Given the description of an element on the screen output the (x, y) to click on. 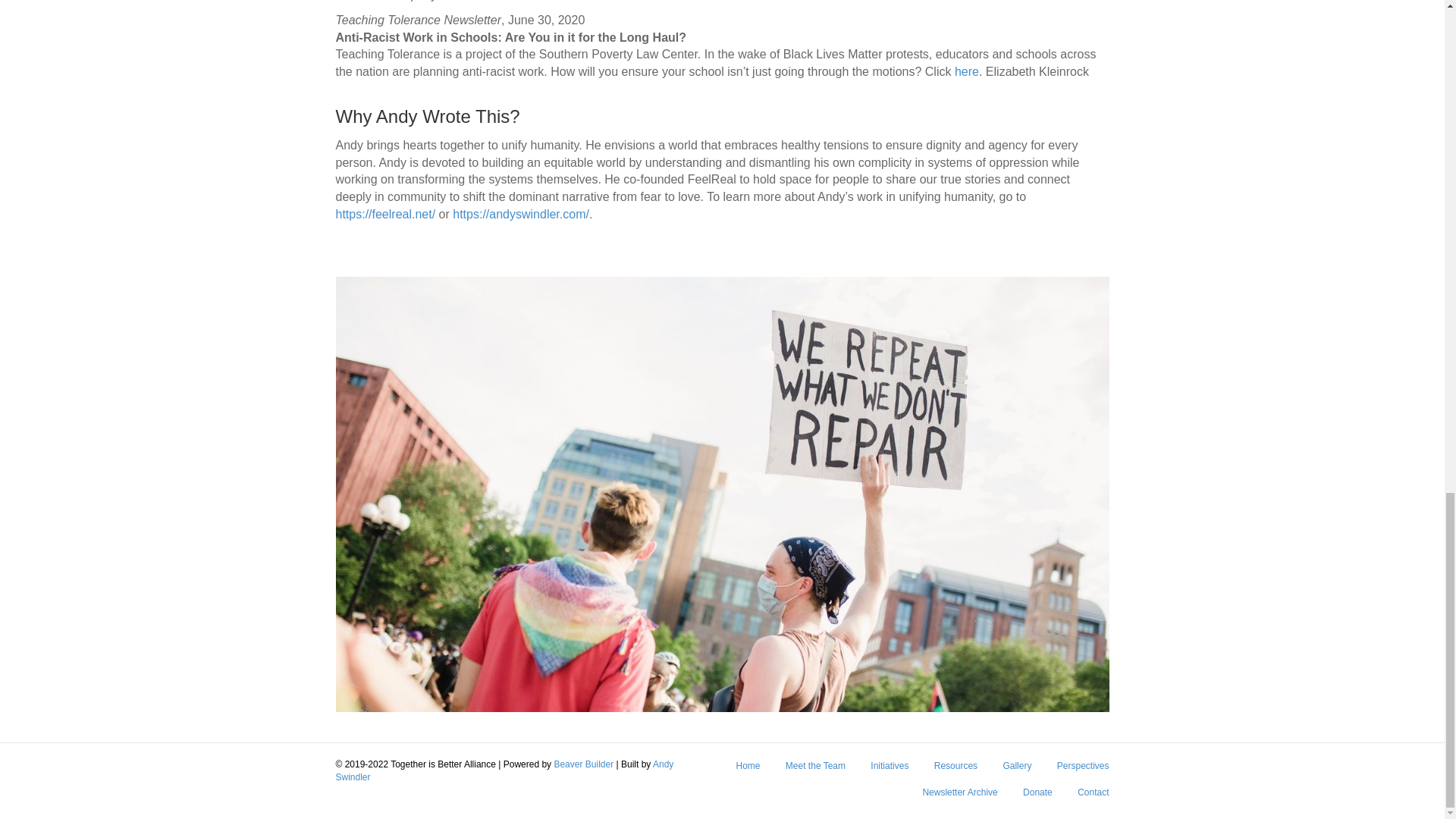
WordPress Page Builder Plugin (582, 764)
here (483, 0)
Purpose Coach Developer (503, 770)
here (966, 71)
Beaver Builder (582, 764)
